Given the description of an element on the screen output the (x, y) to click on. 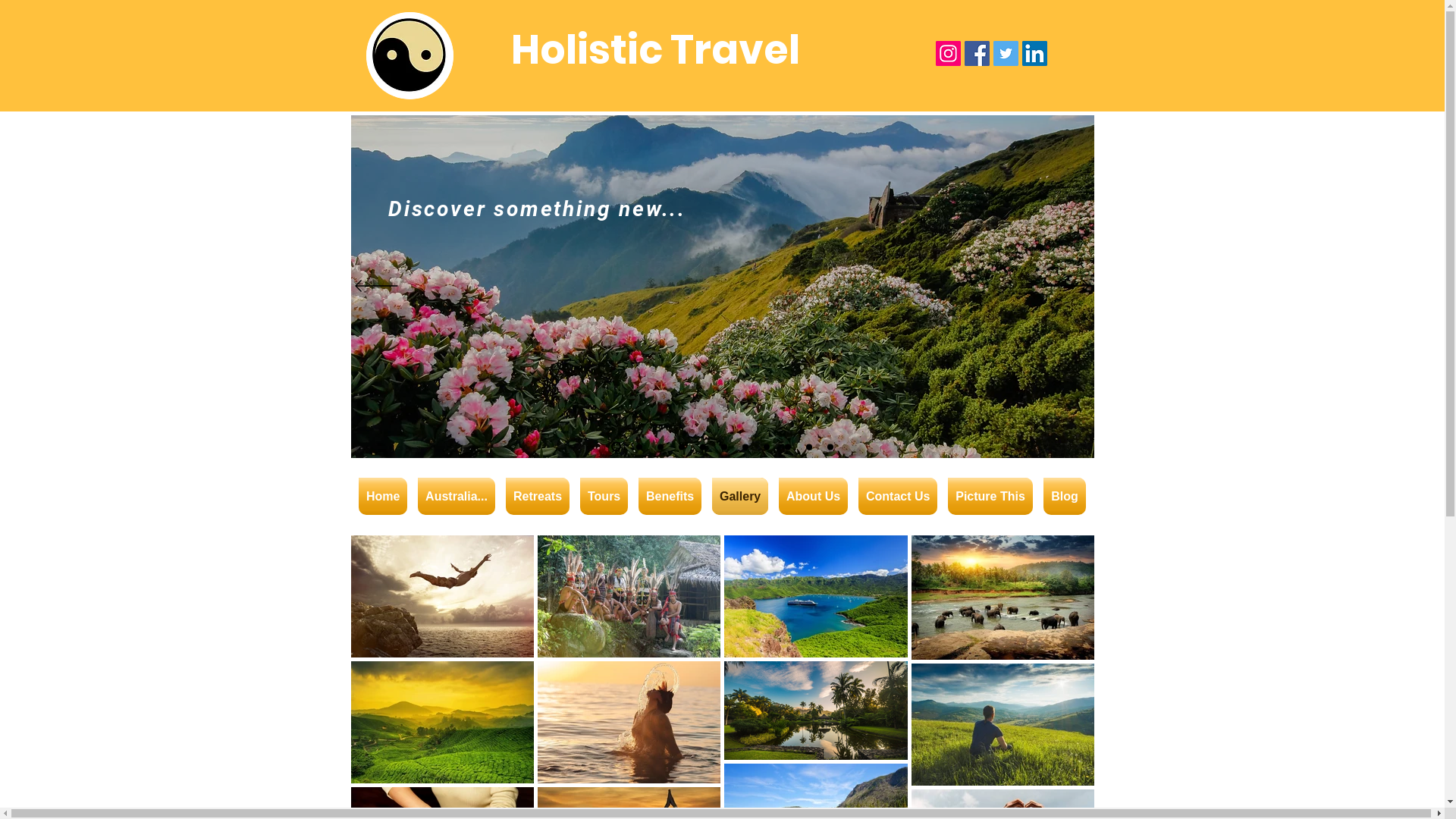
Picture This Element type: text (990, 495)
Retreats Element type: text (537, 495)
Gallery Element type: text (739, 495)
Tours Element type: text (603, 495)
Benefits Element type: text (669, 495)
Home Element type: text (382, 495)
About Us Element type: text (813, 495)
Balance is the key to everything Element type: hover (408, 55)
Contact Us Element type: text (897, 495)
Blog Element type: text (1064, 495)
Australia... Element type: text (456, 495)
